Given the description of an element on the screen output the (x, y) to click on. 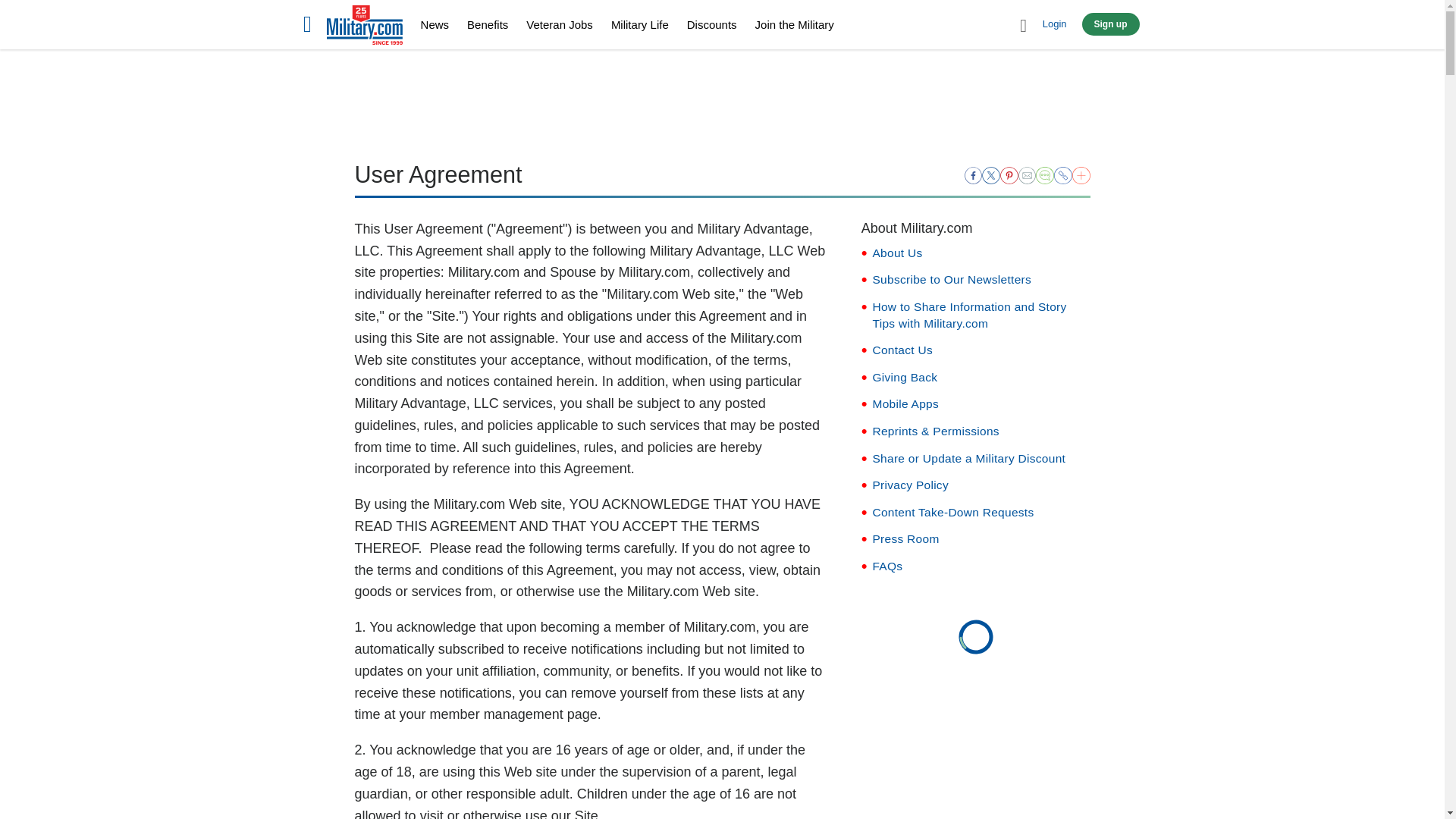
Veteran Jobs (558, 24)
Benefits (487, 24)
Home (364, 27)
Military Life (639, 24)
